Given the description of an element on the screen output the (x, y) to click on. 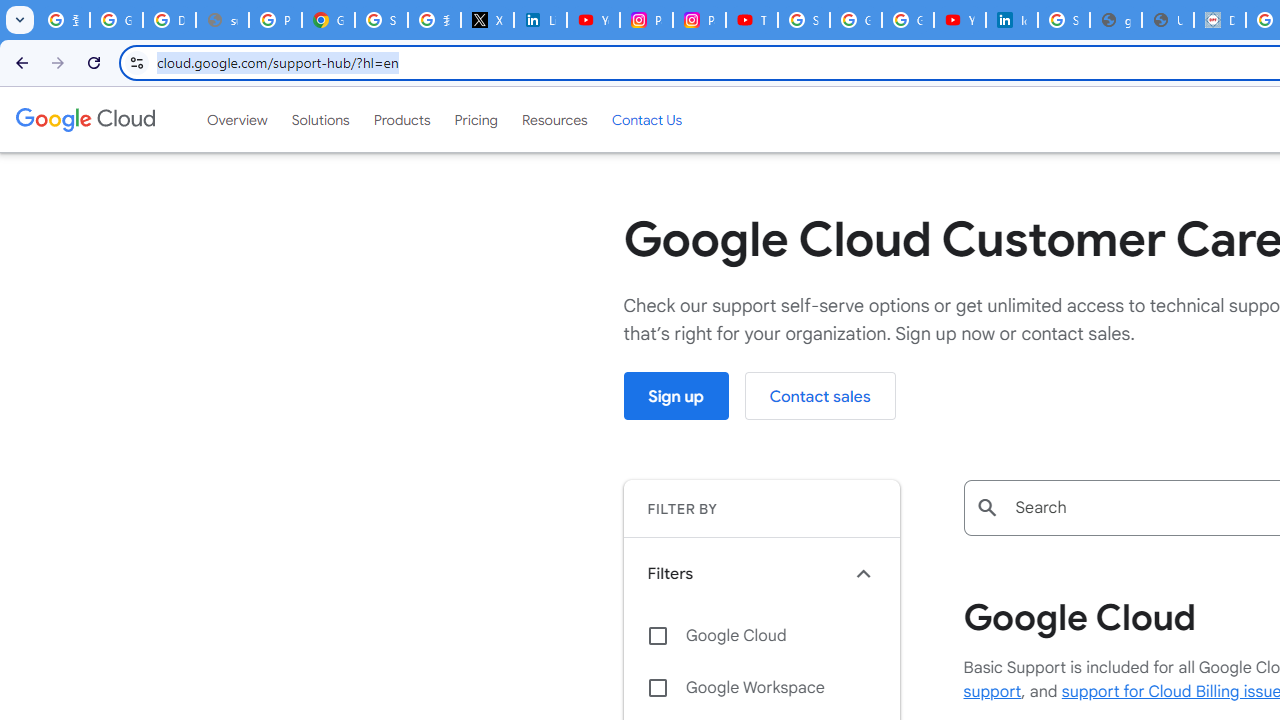
Google Cloud (761, 635)
Contact Us (646, 119)
User Details (1167, 20)
support.google.com - Network error (222, 20)
YouTube Content Monetization Policies - How YouTube Works (593, 20)
X (487, 20)
Google Workspace (761, 687)
Sign in - Google Accounts (381, 20)
